Given the description of an element on the screen output the (x, y) to click on. 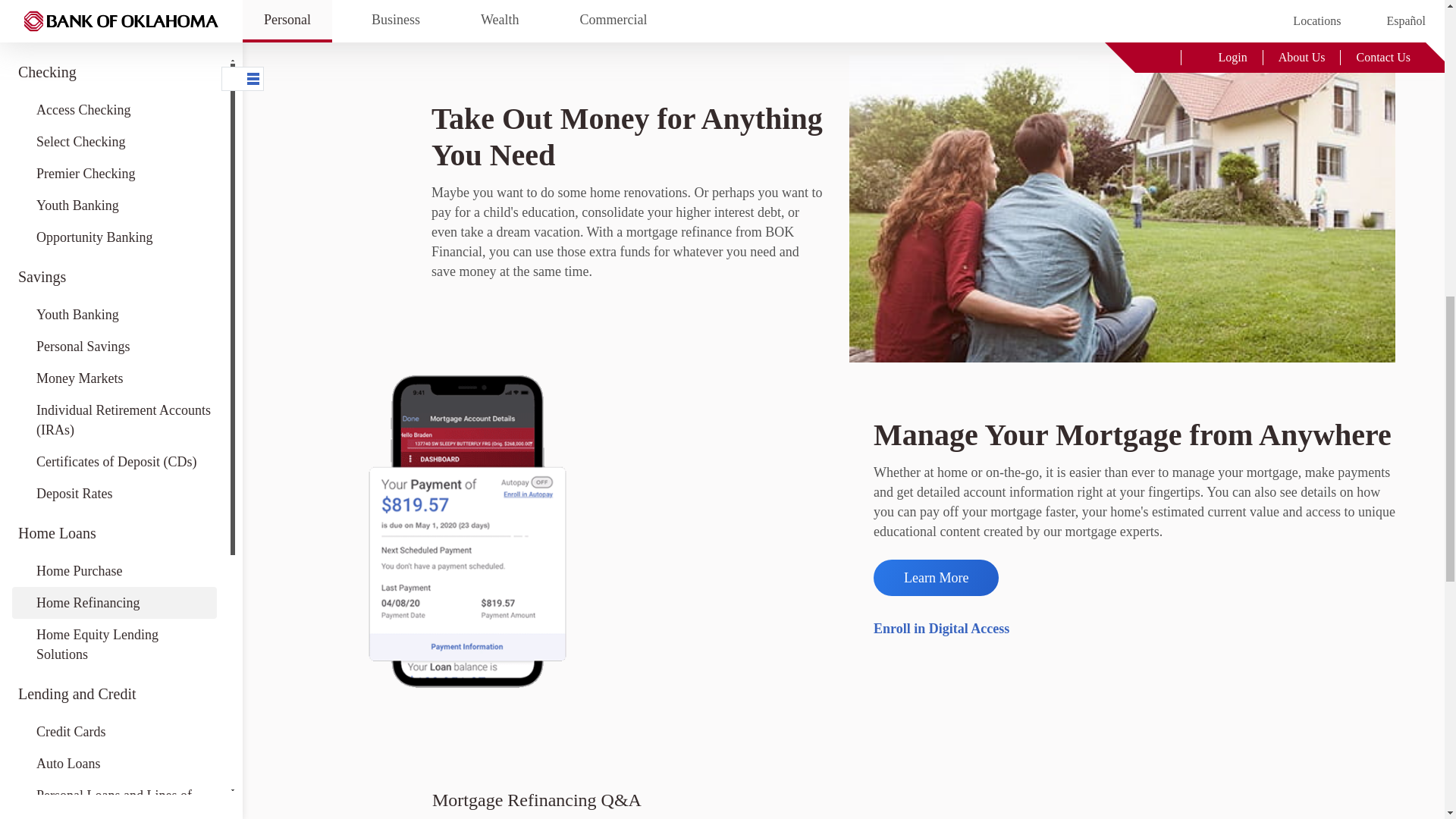
Personal Loans and Lines of Credit (113, 6)
Loan Rates (113, 28)
